Given the description of an element on the screen output the (x, y) to click on. 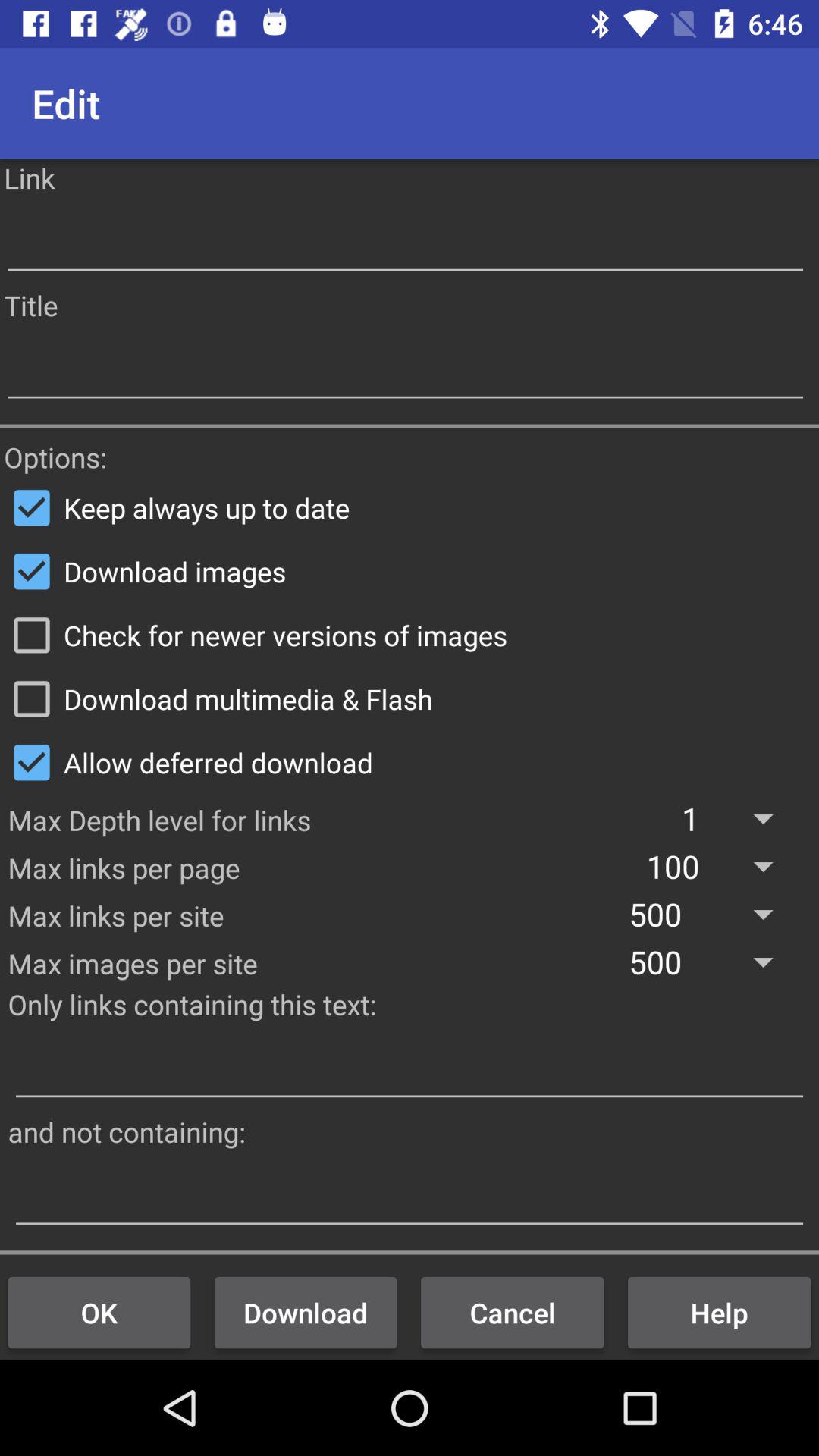
press the download multimedia & flash (409, 698)
